Given the description of an element on the screen output the (x, y) to click on. 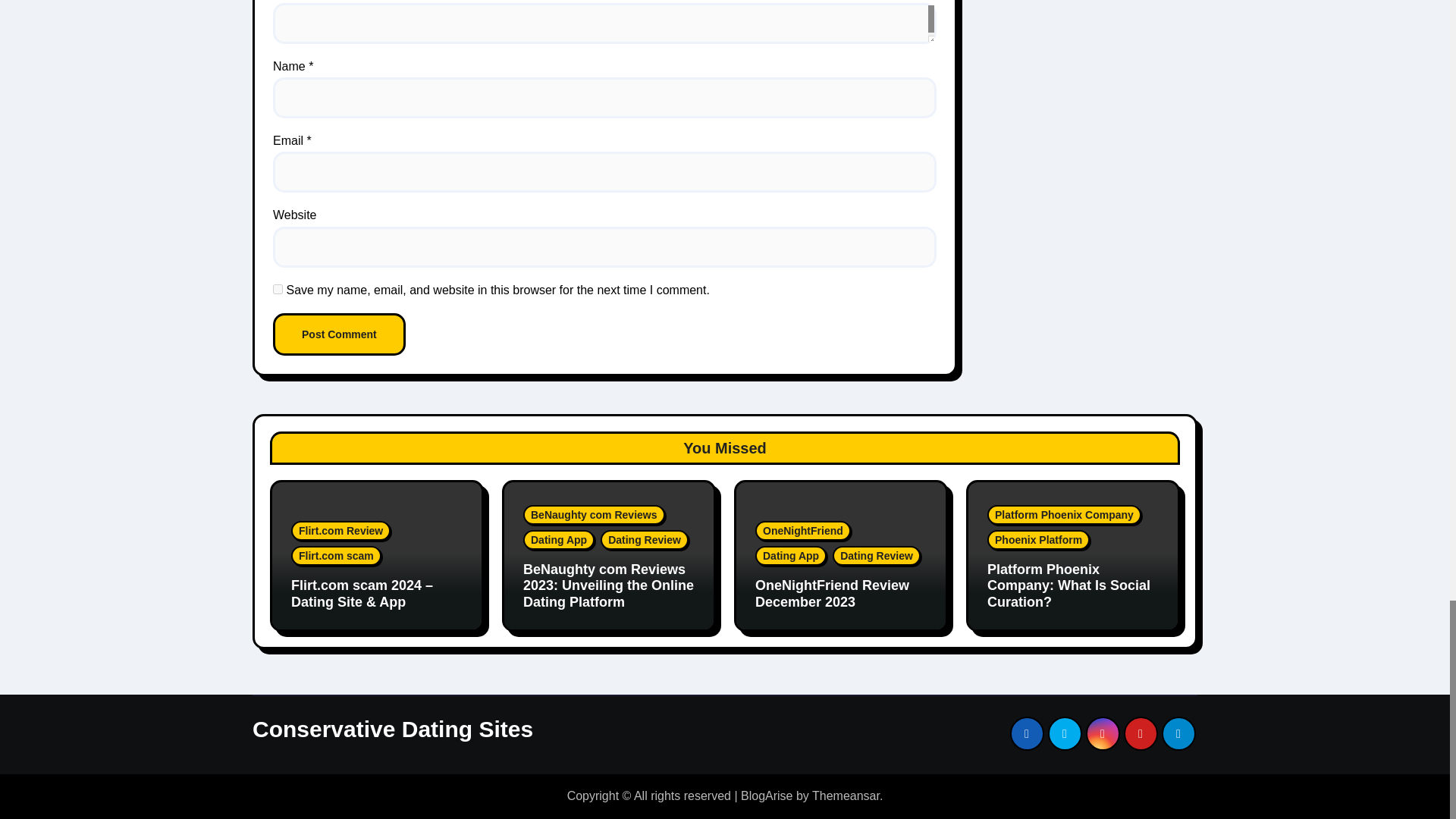
yes (277, 289)
Post Comment (339, 333)
Permalink to: OneNightFriend Review December 2023 (831, 593)
